Given the description of an element on the screen output the (x, y) to click on. 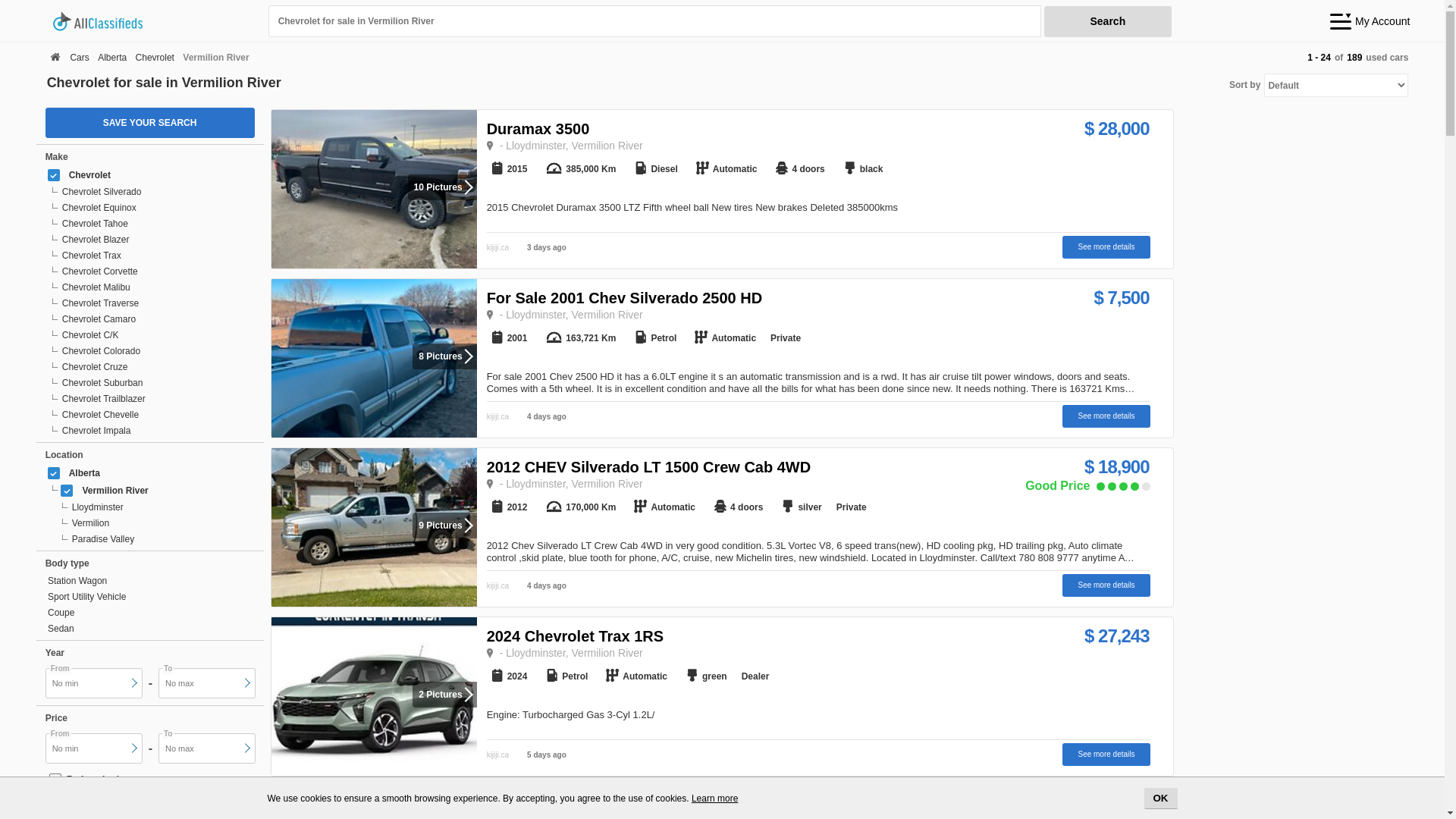
Vermilion Element type: text (157, 523)
OK Element type: text (1159, 798)
Chevrolet Colorado Element type: text (153, 351)
allclassifieds.ca Element type: hover (154, 20)
Chevrolet Malibu Element type: text (153, 287)
Learn more Element type: text (714, 798)
Cars Element type: text (78, 57)
Chevrolet Corvette Element type: text (153, 271)
Chevrolet Trax Element type: text (153, 255)
Chevrolet Tahoe Element type: text (153, 224)
on Element type: text (55, 779)
Chevrolet Suburban Element type: text (153, 383)
Chevrolet Traverse Element type: text (153, 303)
Chevrolet Trailblazer Element type: text (153, 399)
SAVE YOUR SEARCH Element type: text (149, 122)
Chevrolet Cruze Element type: text (153, 367)
Alberta Element type: text (111, 57)
Chevrolet Blazer Element type: text (153, 239)
on Element type: text (53, 175)
Search Element type: text (1107, 21)
Chevrolet Camaro Element type: text (153, 319)
Chevrolet Element type: text (154, 57)
on Element type: text (53, 473)
Lloydminster Element type: text (157, 507)
on Element type: text (66, 490)
